Given the description of an element on the screen output the (x, y) to click on. 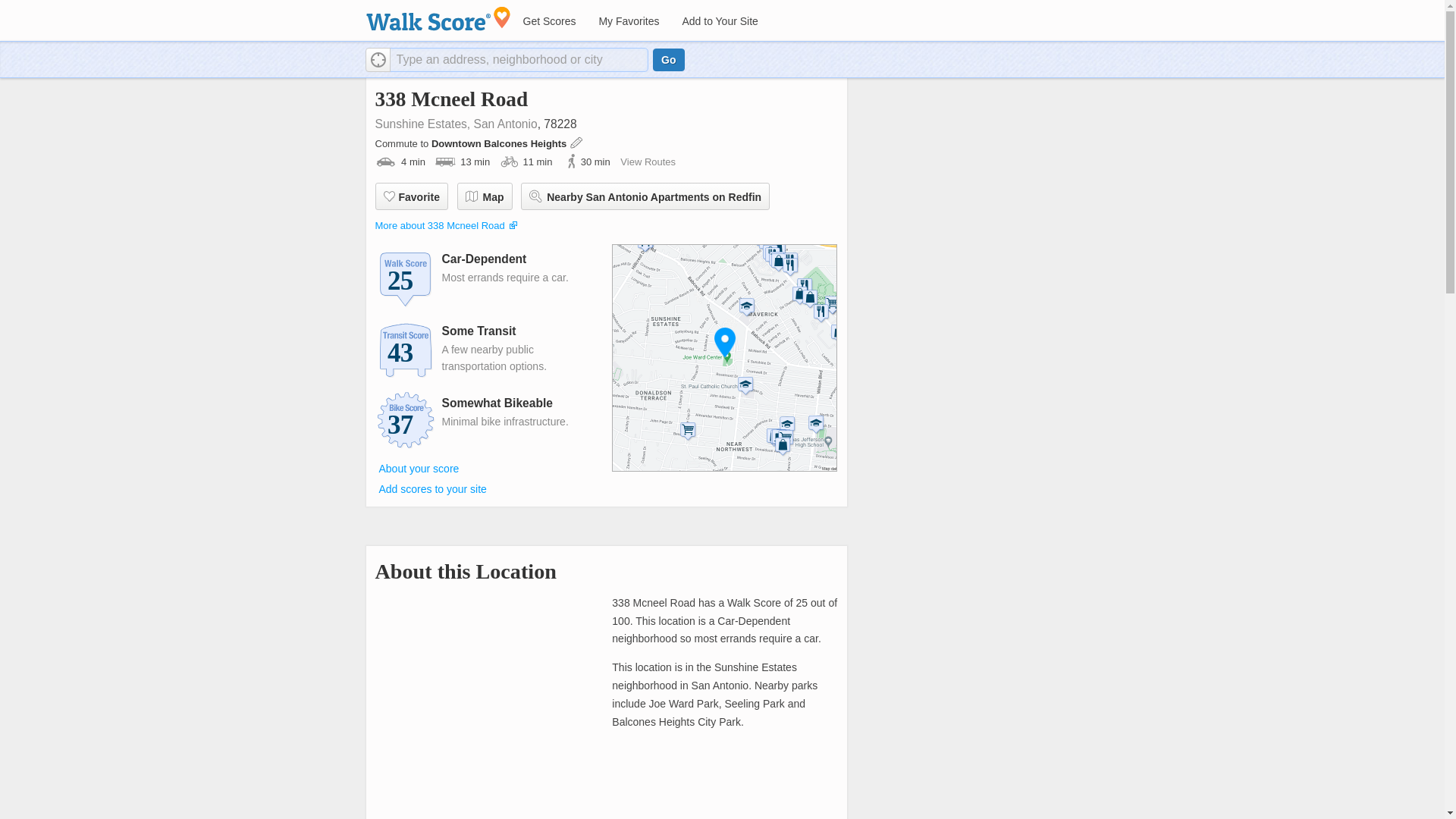
My Favorites (628, 21)
Map (484, 195)
Add to Your Site (719, 21)
Favorite (410, 195)
Downtown Balcones Heights (499, 143)
Sunshine Estates, (422, 123)
About your score (419, 468)
Get Scores (548, 21)
Nearby San Antonio Apartments on Redfin (645, 195)
More about 338 Mcneel Road (438, 225)
